Given the description of an element on the screen output the (x, y) to click on. 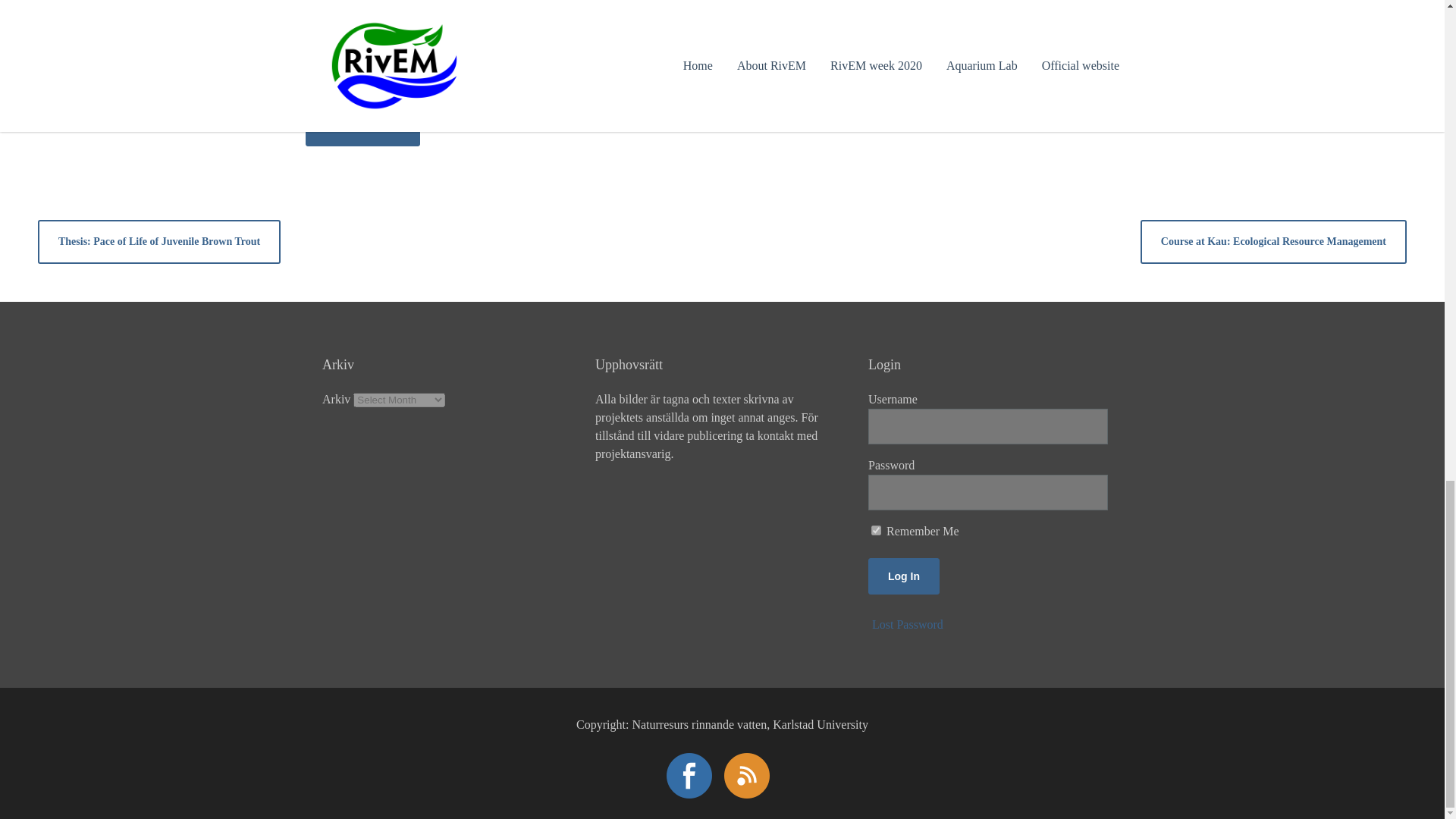
Thesis: Pace of Life of Juvenile Brown Trout (159, 241)
Log In (903, 575)
Post Comment (362, 127)
Log In (903, 575)
Course at Kau: Ecological Resource Management (1273, 241)
yes (313, 81)
Lost Password (907, 624)
Post Comment (362, 127)
forever (875, 530)
